Given the description of an element on the screen output the (x, y) to click on. 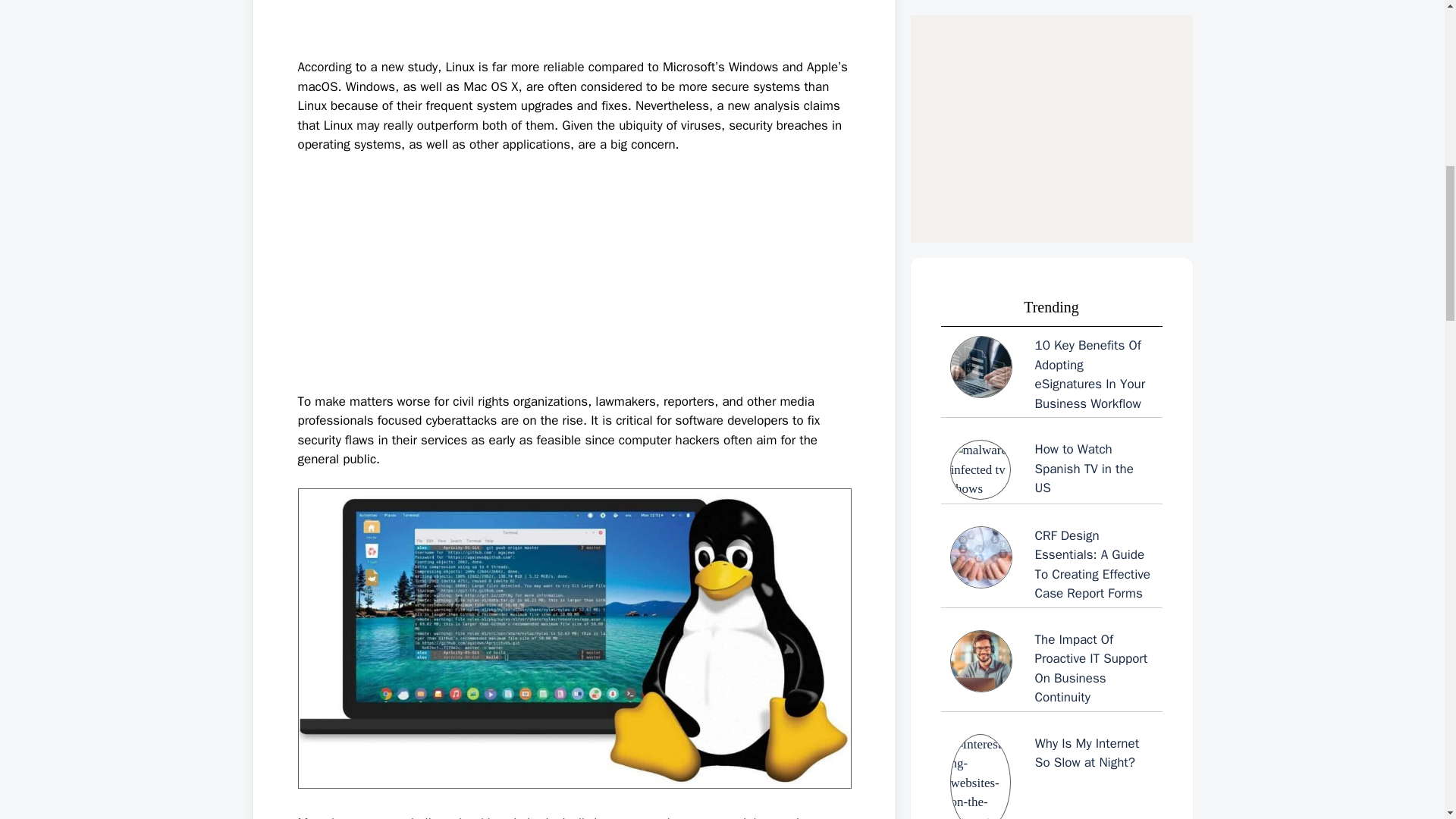
Why Is My Internet So Slow at Night? (1051, 203)
The Role of Experience Platforms in Customer Interactions  (1051, 422)
Linux (494, 816)
The Impact Of Proactive IT Support On Business Continuity (1051, 89)
How To Set Strategic Business Priorities In 2024 (1051, 314)
Top Benefits Of Using Enterprise Hosting Solutions (1051, 536)
Scroll back to top (1406, 720)
Navigating the Maze: Understanding Search Engine Redirects (1051, 641)
